Given the description of an element on the screen output the (x, y) to click on. 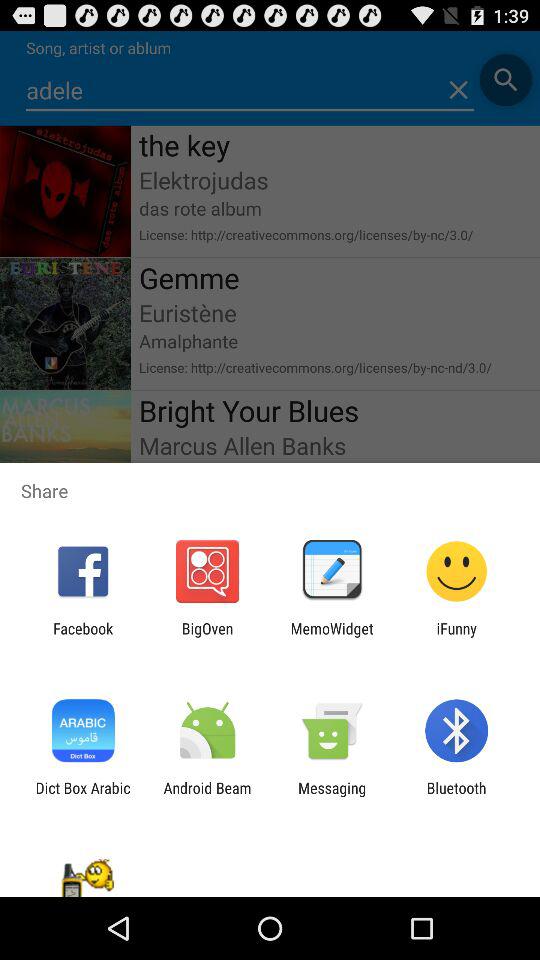
scroll to dict box arabic item (82, 796)
